Given the description of an element on the screen output the (x, y) to click on. 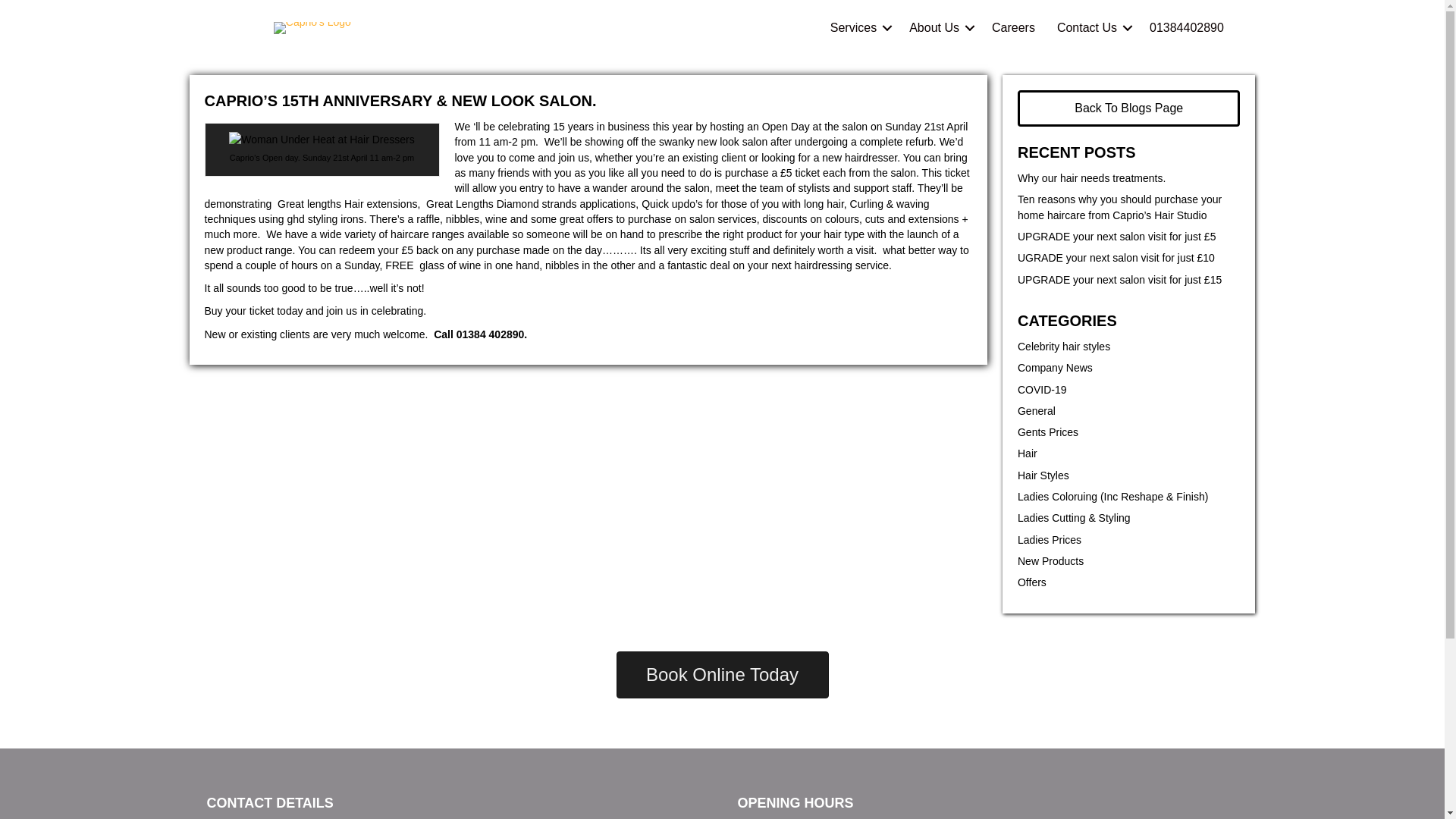
news-letter-caprios-logo-v3 (311, 28)
Contact Us (1092, 27)
Services (858, 27)
01384402890 (1186, 27)
About Us (938, 27)
Careers (1013, 27)
